Given the description of an element on the screen output the (x, y) to click on. 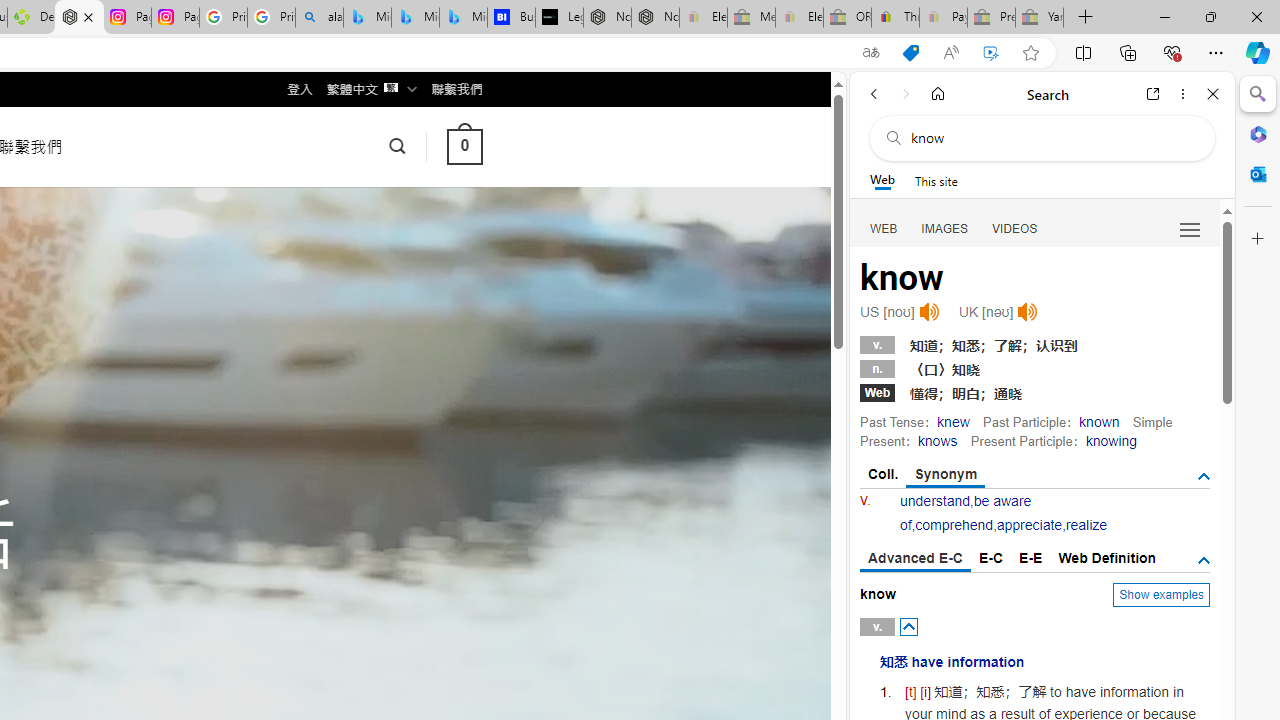
WEB (884, 228)
AutomationID: posbtn_0 (908, 626)
Press Room - eBay Inc. - Sleeping (991, 17)
knew (953, 421)
